Given the description of an element on the screen output the (x, y) to click on. 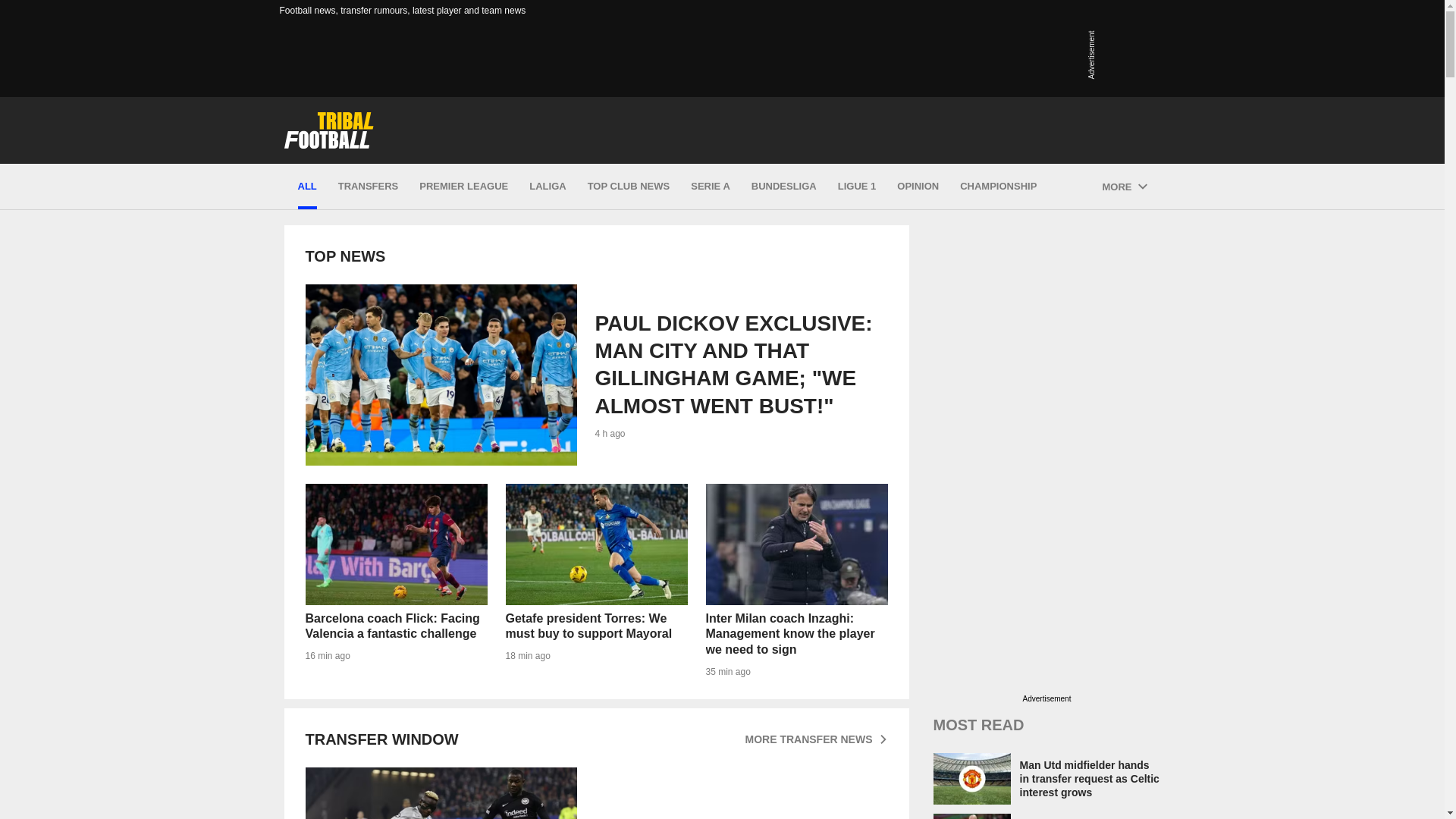
BUNDESLIGA (783, 186)
PREMIER LEAGUE (463, 186)
TOP CLUB NEWS (628, 186)
MORE TRANSFER NEWS (815, 739)
CHAMPIONSHIP (997, 186)
MORE (1124, 186)
Getafe president Torres: We must buy to support Mayoral (596, 581)
Getafe president Torres: We must buy to support Mayoral (596, 544)
